Given the description of an element on the screen output the (x, y) to click on. 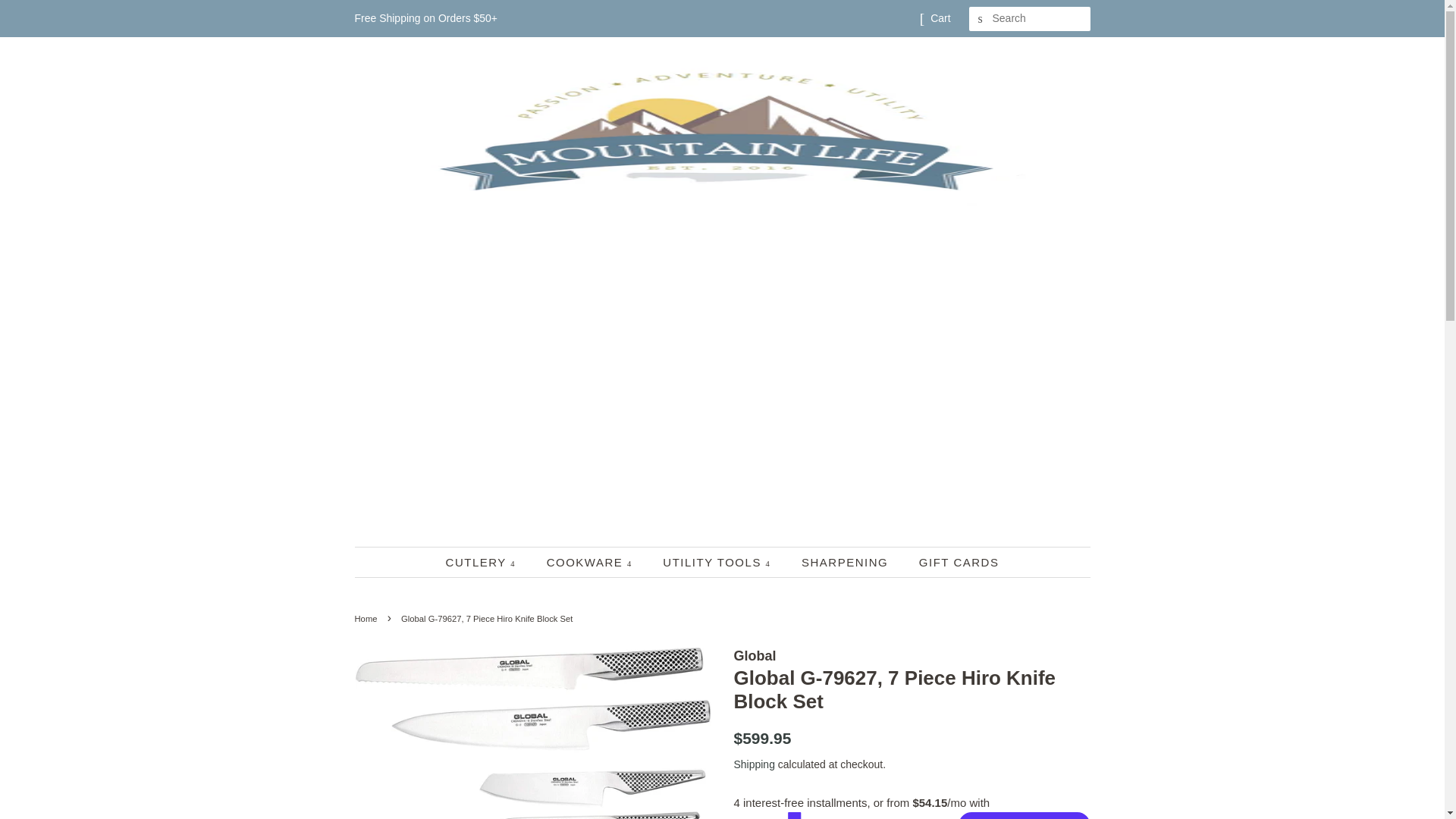
Back to the frontpage (368, 618)
Cart (940, 18)
COOKWARE (591, 562)
CUTLERY (488, 562)
SEARCH (980, 18)
UTILITY TOOLS (718, 562)
